Given the description of an element on the screen output the (x, y) to click on. 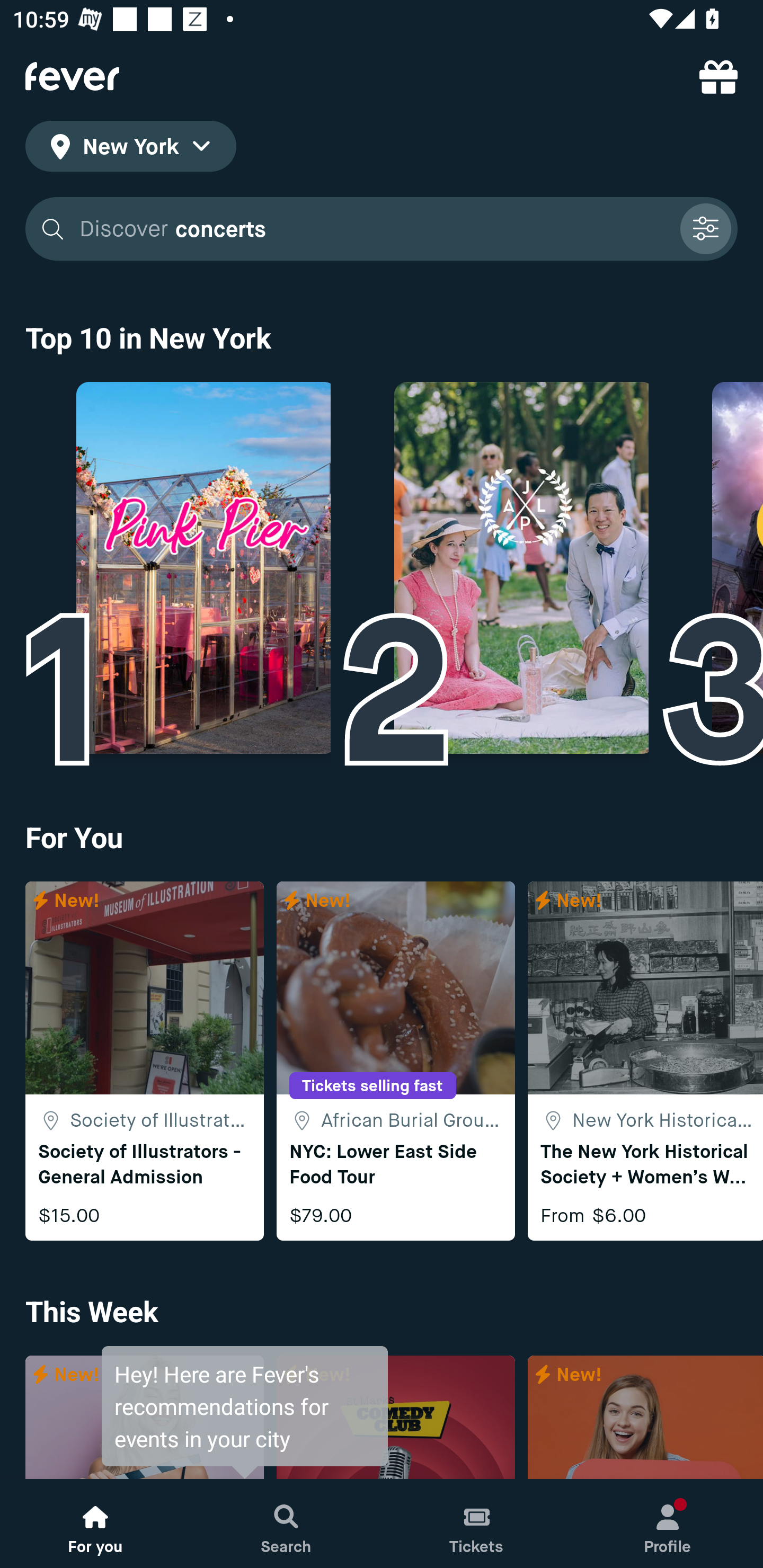
referral (718, 75)
location icon New York location icon (130, 149)
Discover concerts (381, 228)
Discover concerts (373, 228)
Search (285, 1523)
Tickets (476, 1523)
Profile, New notification Profile (667, 1523)
